Given the description of an element on the screen output the (x, y) to click on. 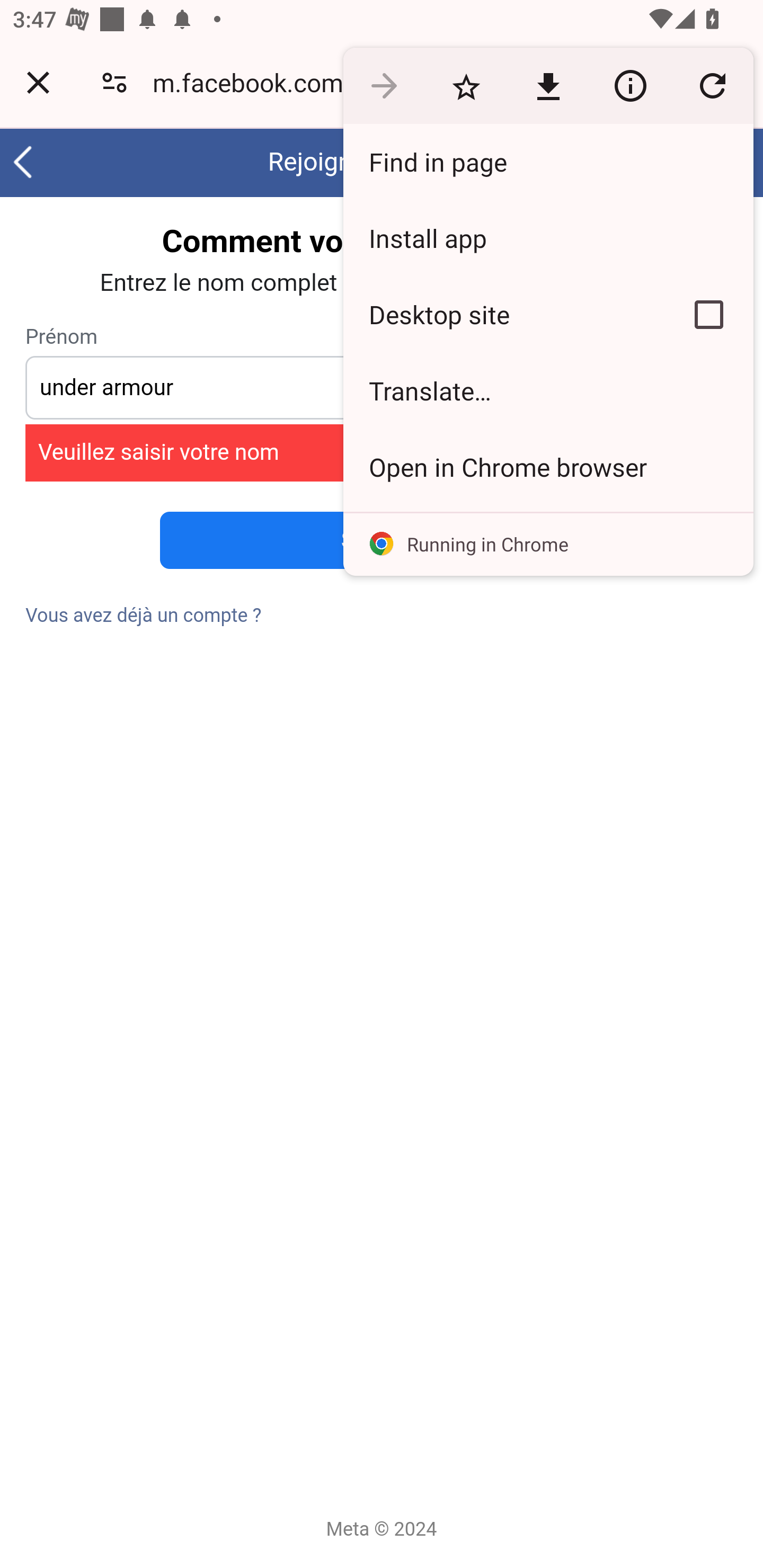
Go forward (383, 85)
Bookmark (465, 85)
Download this page (548, 85)
View site information (630, 85)
Refresh (712, 85)
Find in page (548, 161)
Install app (548, 237)
Desktop site Turn on Request desktop site (503, 313)
Translate… (548, 390)
Open in Chrome browser (548, 466)
